Given the description of an element on the screen output the (x, y) to click on. 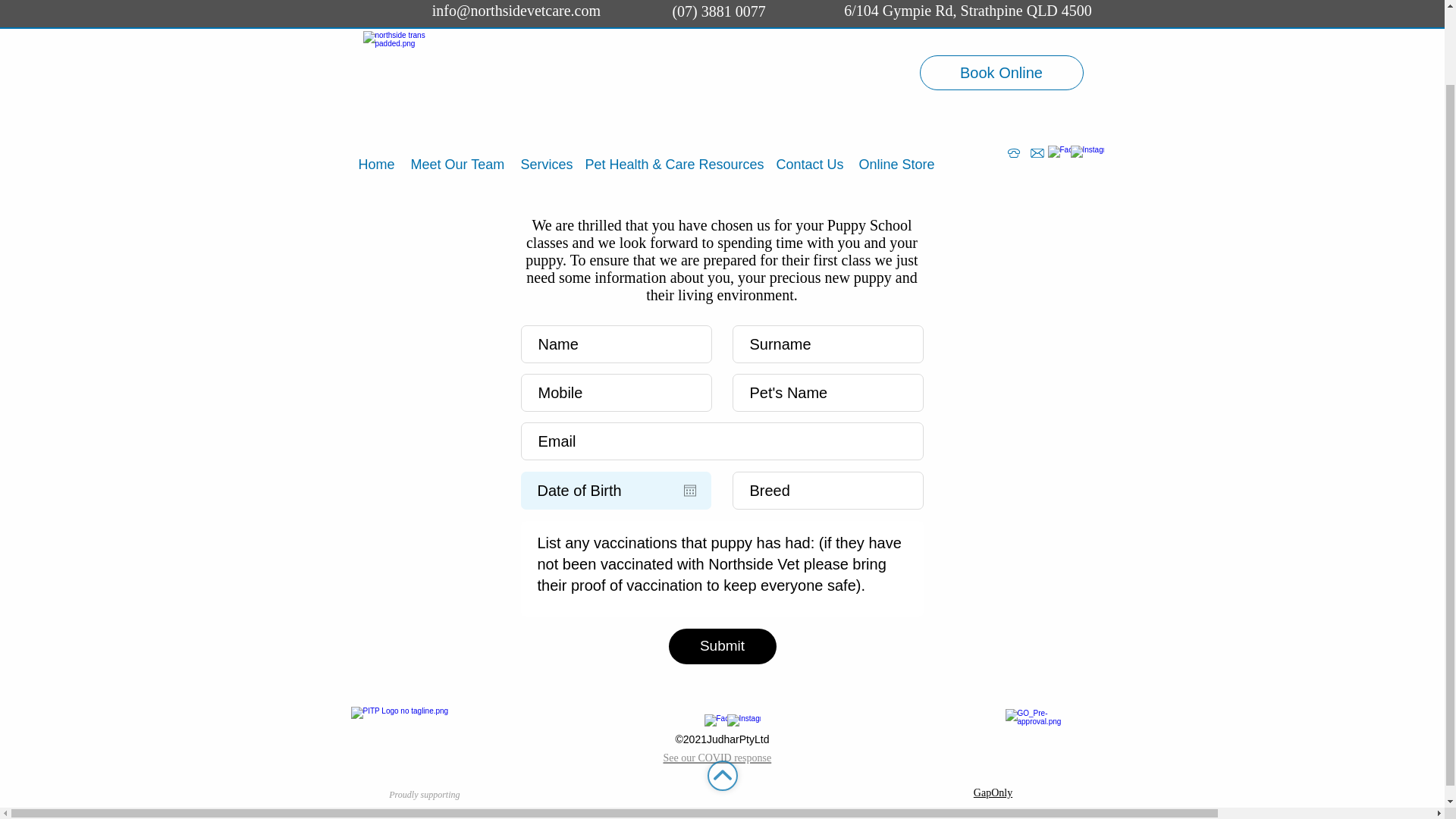
Contact Us (809, 78)
Book Online (1000, 2)
Home (376, 78)
Online Store (896, 78)
Services (544, 78)
Meet Our Team (458, 78)
